Given the description of an element on the screen output the (x, y) to click on. 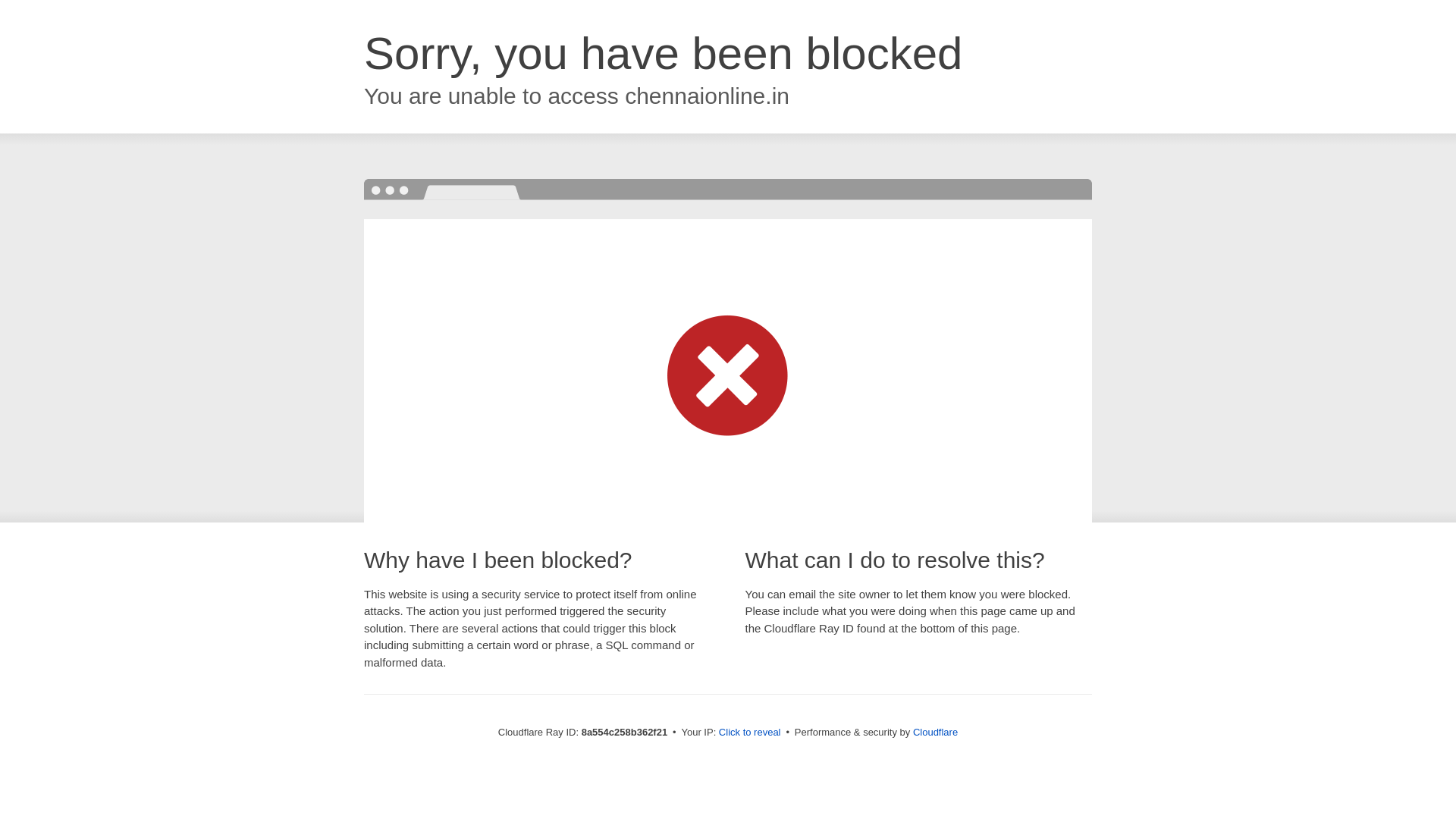
Cloudflare (935, 731)
Click to reveal (749, 732)
